Given the description of an element on the screen output the (x, y) to click on. 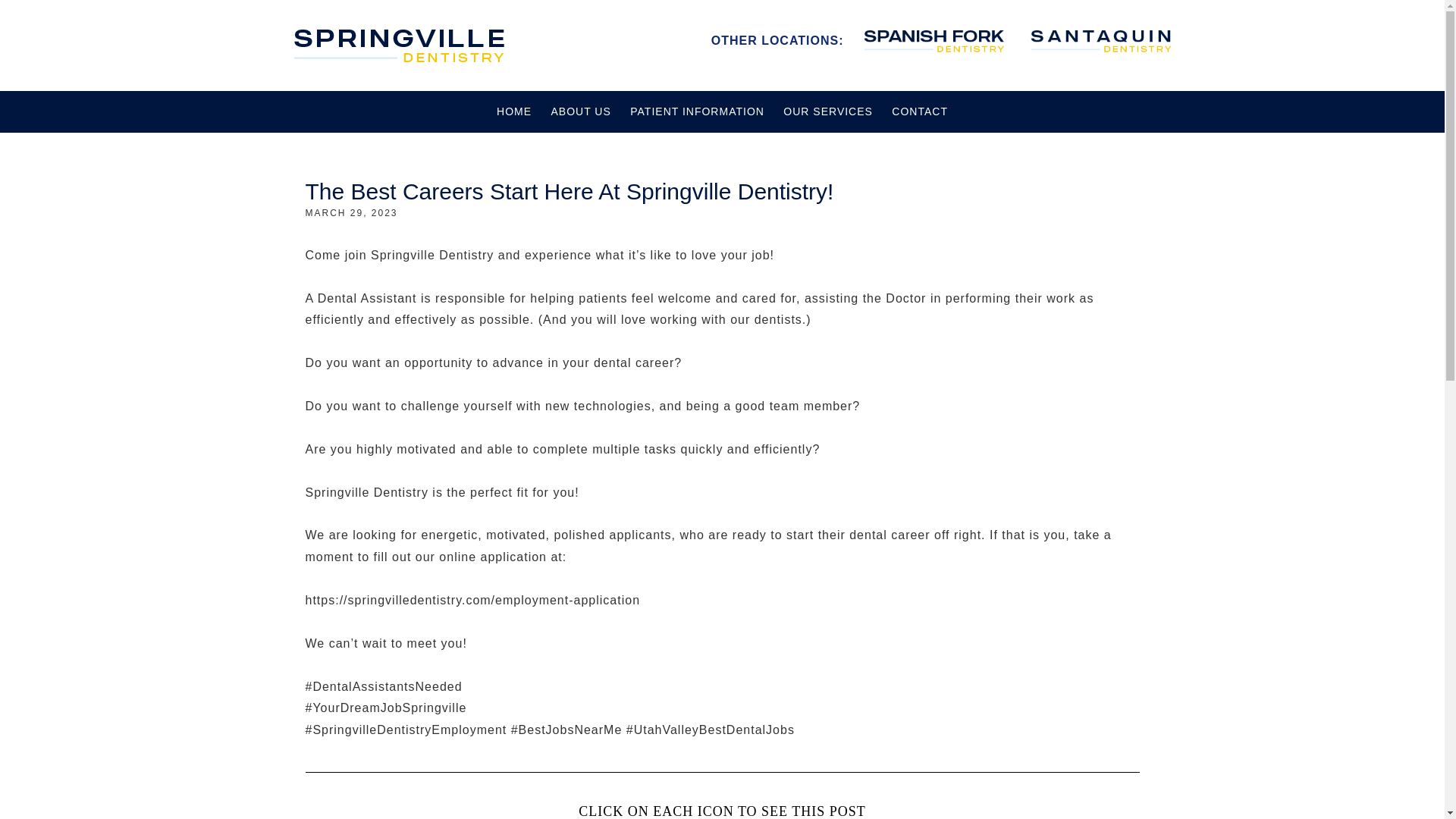
PATIENT INFORMATION (697, 111)
HOME (513, 111)
ABOUT US (580, 111)
OUR SERVICES (828, 111)
